Given the description of an element on the screen output the (x, y) to click on. 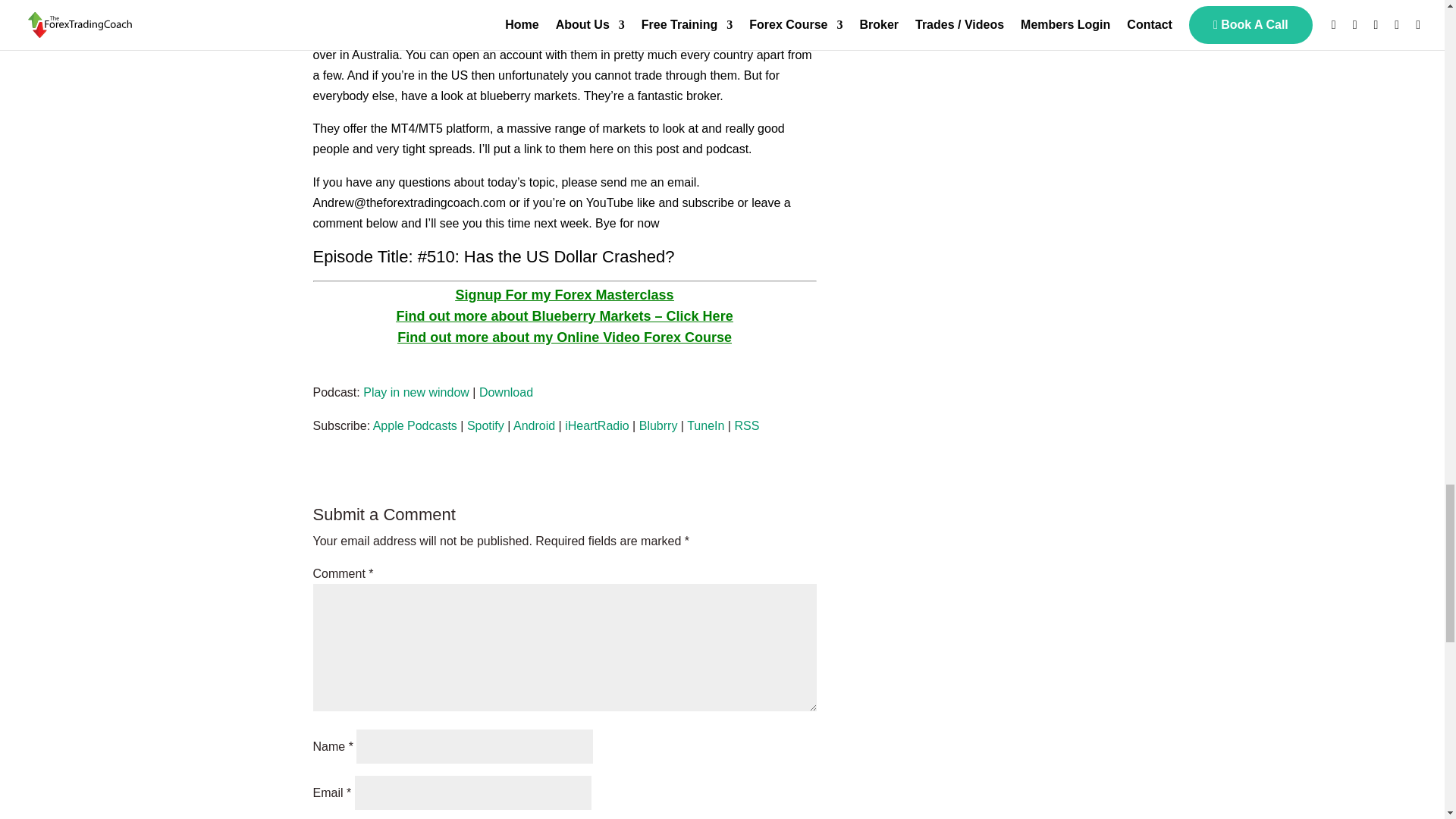
Play in new window (415, 391)
Play (361, 371)
Download (505, 391)
Play (361, 367)
